Given the description of an element on the screen output the (x, y) to click on. 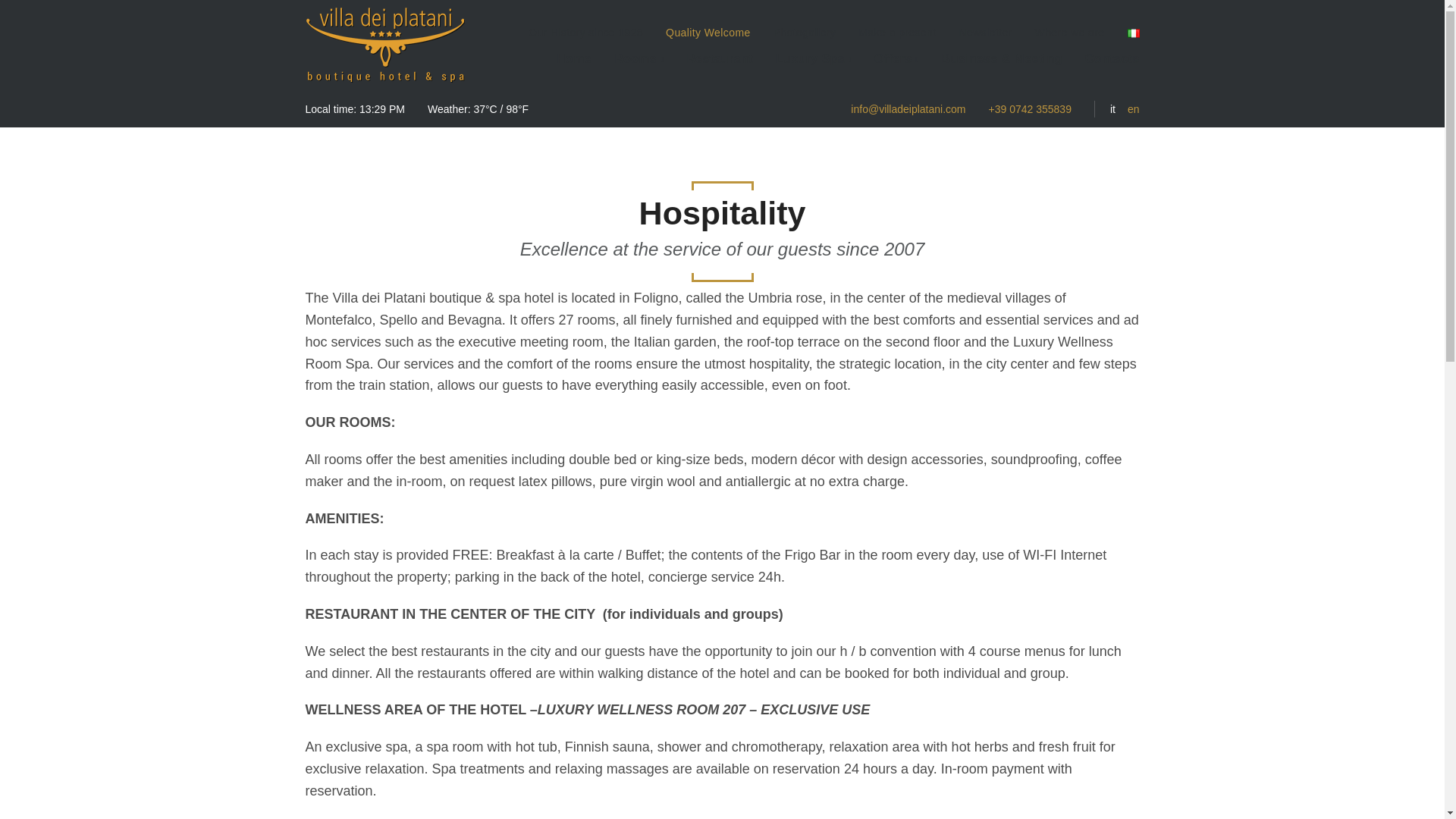
Where we are (1070, 32)
Our History since 1928 (585, 32)
Offers (896, 58)
Rooms (638, 58)
Photogallery (804, 32)
Make a present (897, 32)
Newsletter (984, 32)
Luxury Spa (813, 58)
Restaurant (718, 58)
Contacts (1112, 58)
Home (573, 58)
Quality Welcome (708, 32)
